Given the description of an element on the screen output the (x, y) to click on. 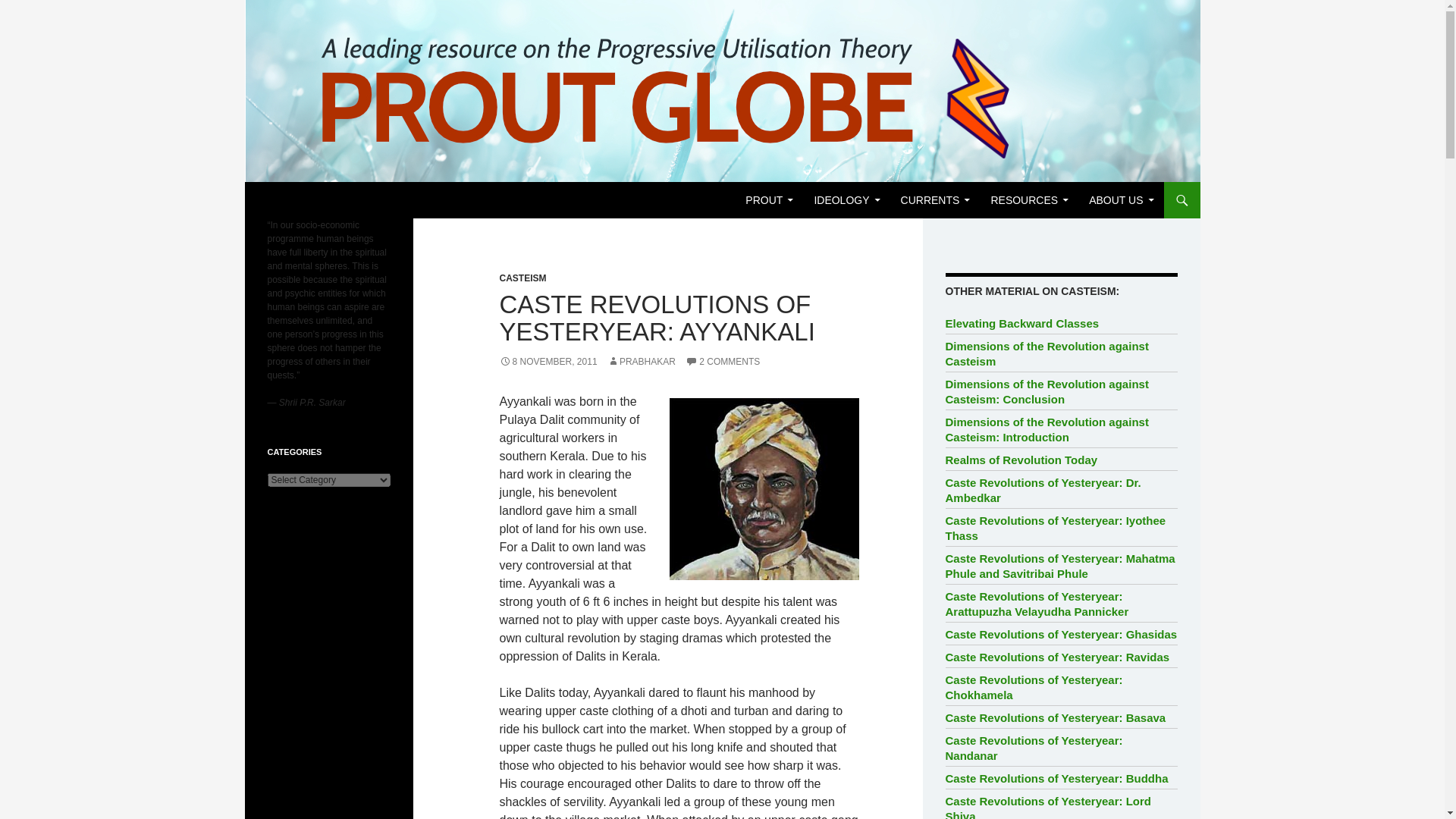
Caste Revolutions of Yesteryear: Dr. Ambedkar (1042, 489)
IDEOLOGY (846, 199)
Dimensions of the Revolution against Casteism: Introduction (1046, 429)
CURRENTS (935, 199)
Caste Revolutions of Yesteryear: Iyothee Thass (1055, 528)
Dimensions of the Revolution against Casteism (1046, 353)
Caste Revolutions of Yesteryear: Ghasidas (1060, 634)
Elevating Backward Classes (1021, 323)
ayyankali (763, 488)
Dimensions of the Revolution against Casteism: Conclusion (1046, 391)
